Given the description of an element on the screen output the (x, y) to click on. 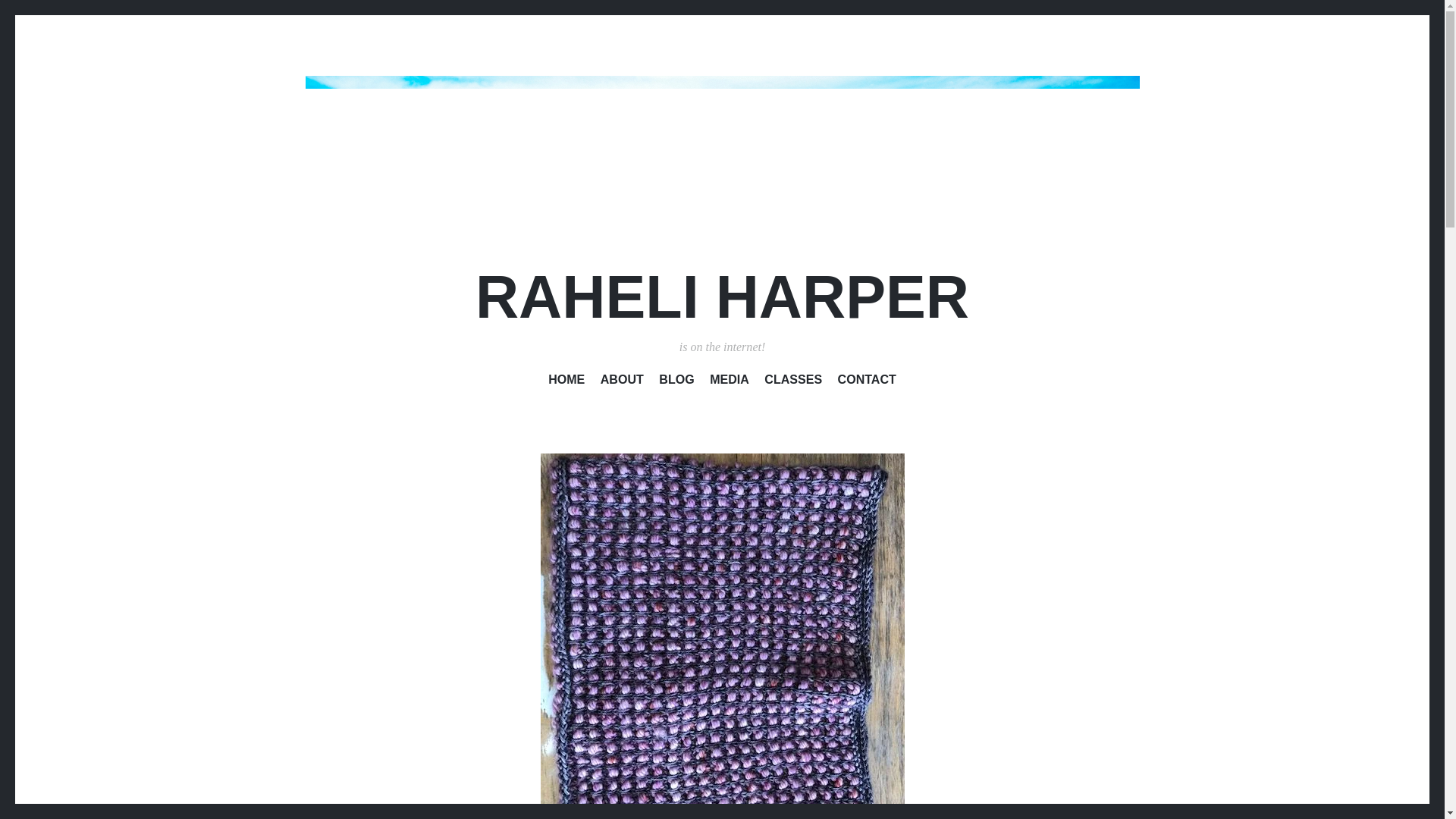
ABOUT (621, 382)
RAHELI HARPER (722, 296)
CONTACT (867, 382)
MEDIA (729, 382)
HOME (566, 382)
Raheli Harper (721, 154)
CLASSES (793, 382)
BLOG (676, 382)
